Given the description of an element on the screen output the (x, y) to click on. 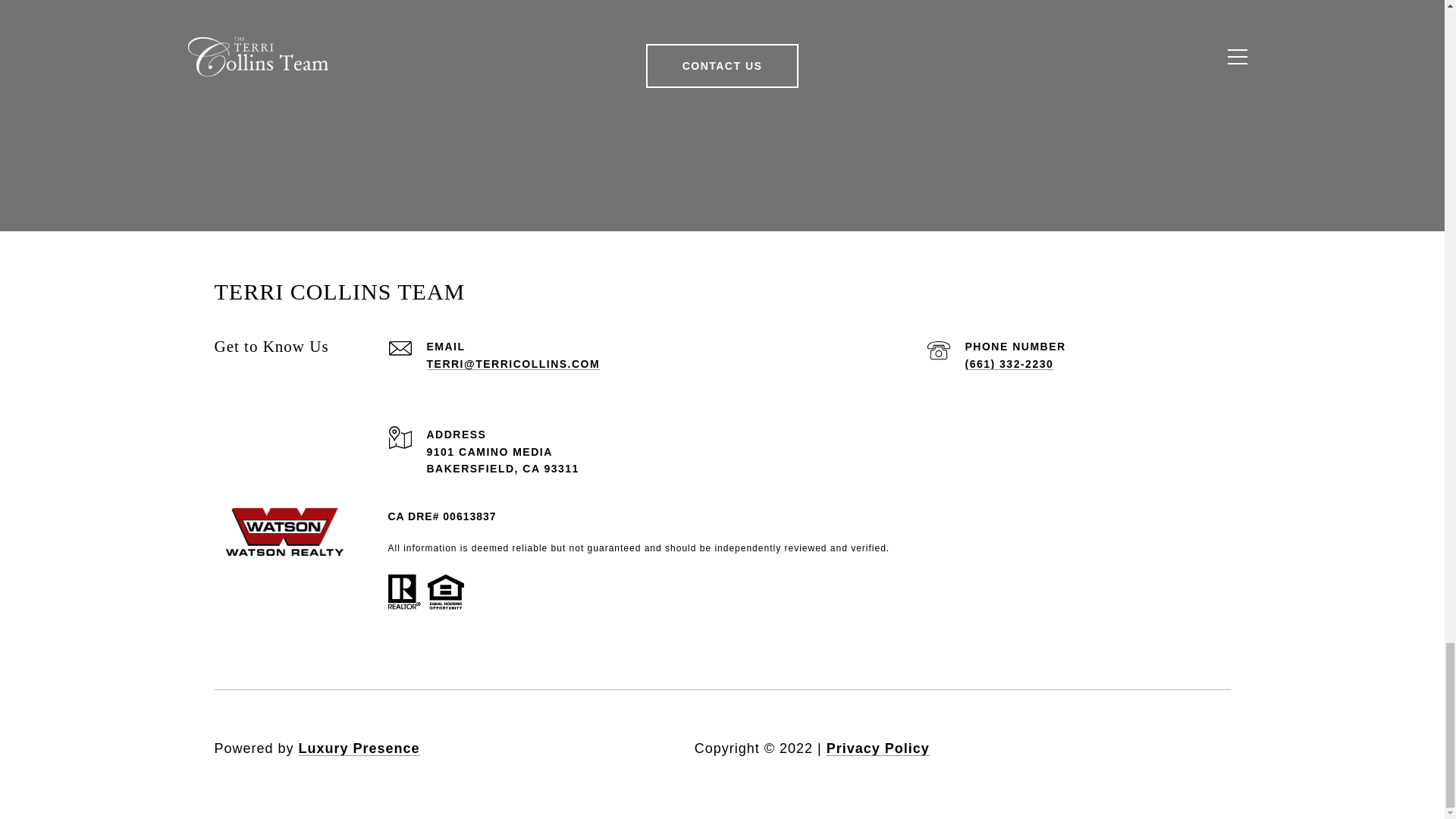
CONTACT US (722, 65)
